Given the description of an element on the screen output the (x, y) to click on. 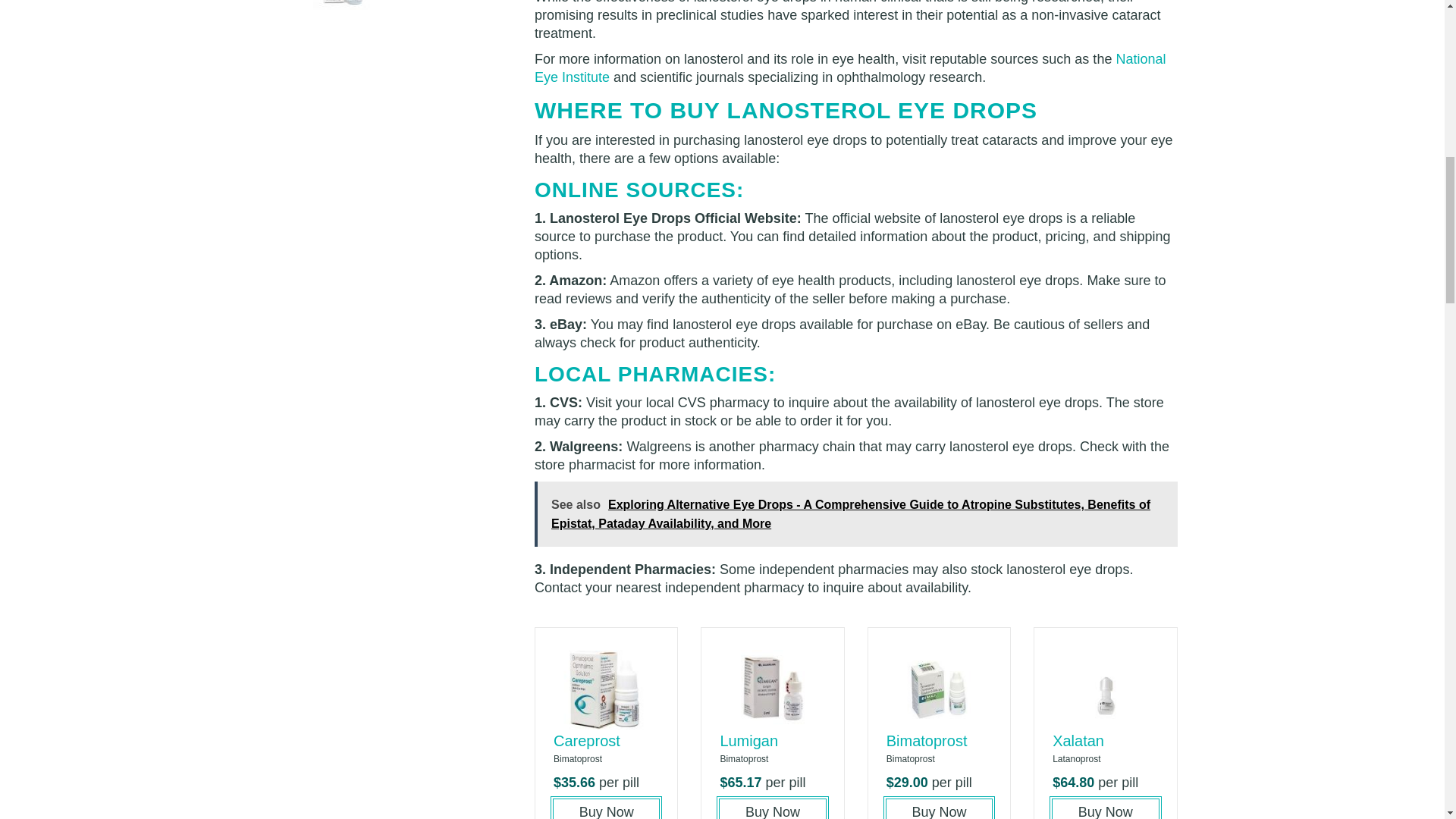
Bimatoprost (927, 740)
Careprost (586, 740)
Buy Now (772, 809)
Lumigan (748, 740)
Buy Now (938, 809)
Xalatan (1077, 740)
Buy Now (1104, 809)
National Eye Institute (850, 68)
Buy Now (606, 809)
